Given the description of an element on the screen output the (x, y) to click on. 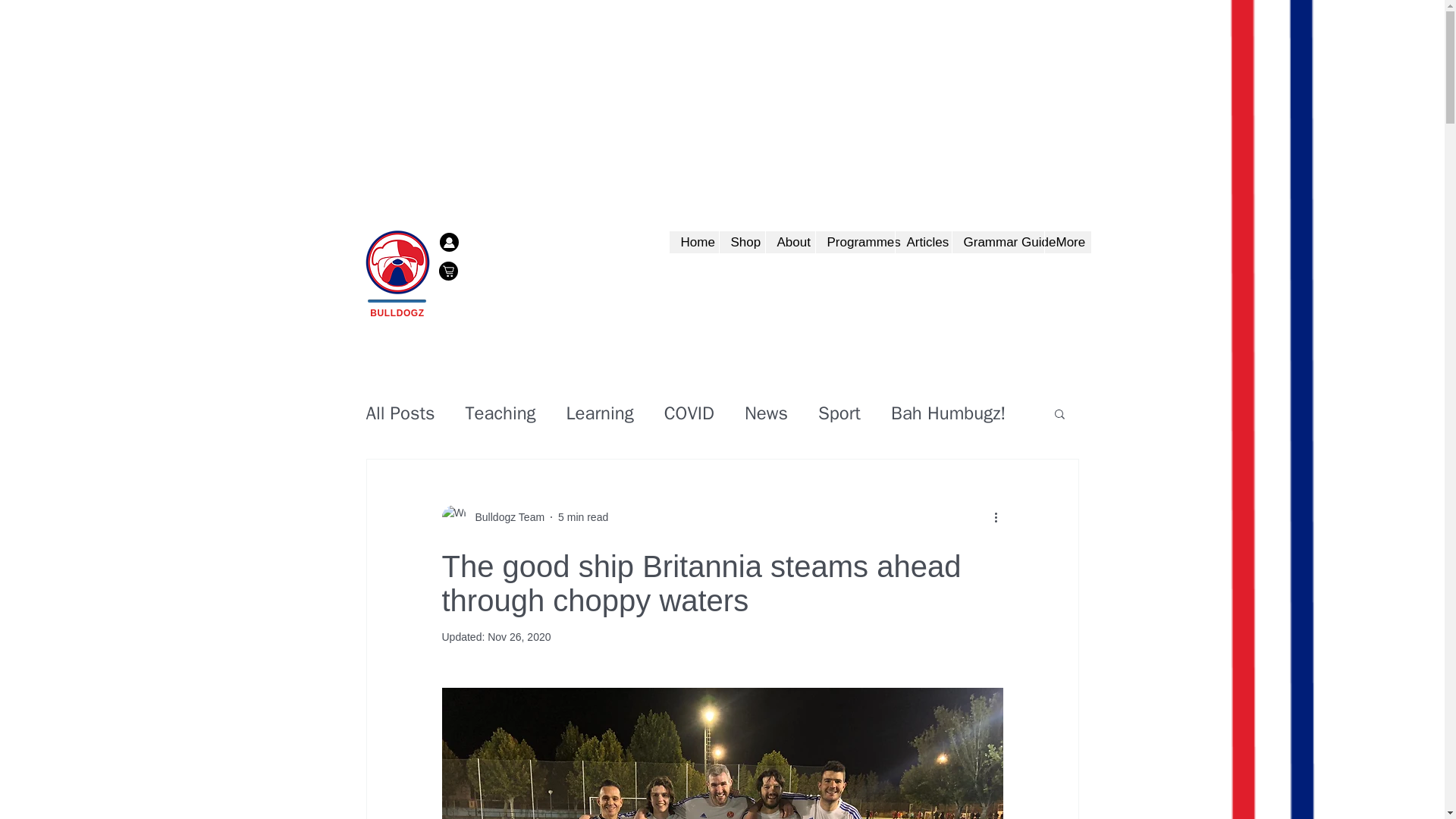
Nov 26, 2020 (518, 636)
Bah Humbugz! (948, 413)
Sport (839, 413)
Programmes (853, 241)
Bulldogz Team (504, 517)
Articles (923, 241)
BULLDOGZ (396, 312)
About (788, 241)
Learning (599, 413)
News (765, 413)
5 min read (582, 517)
All Posts (399, 413)
Grammar Guide (996, 241)
Home (692, 241)
Teaching (500, 413)
